Given the description of an element on the screen output the (x, y) to click on. 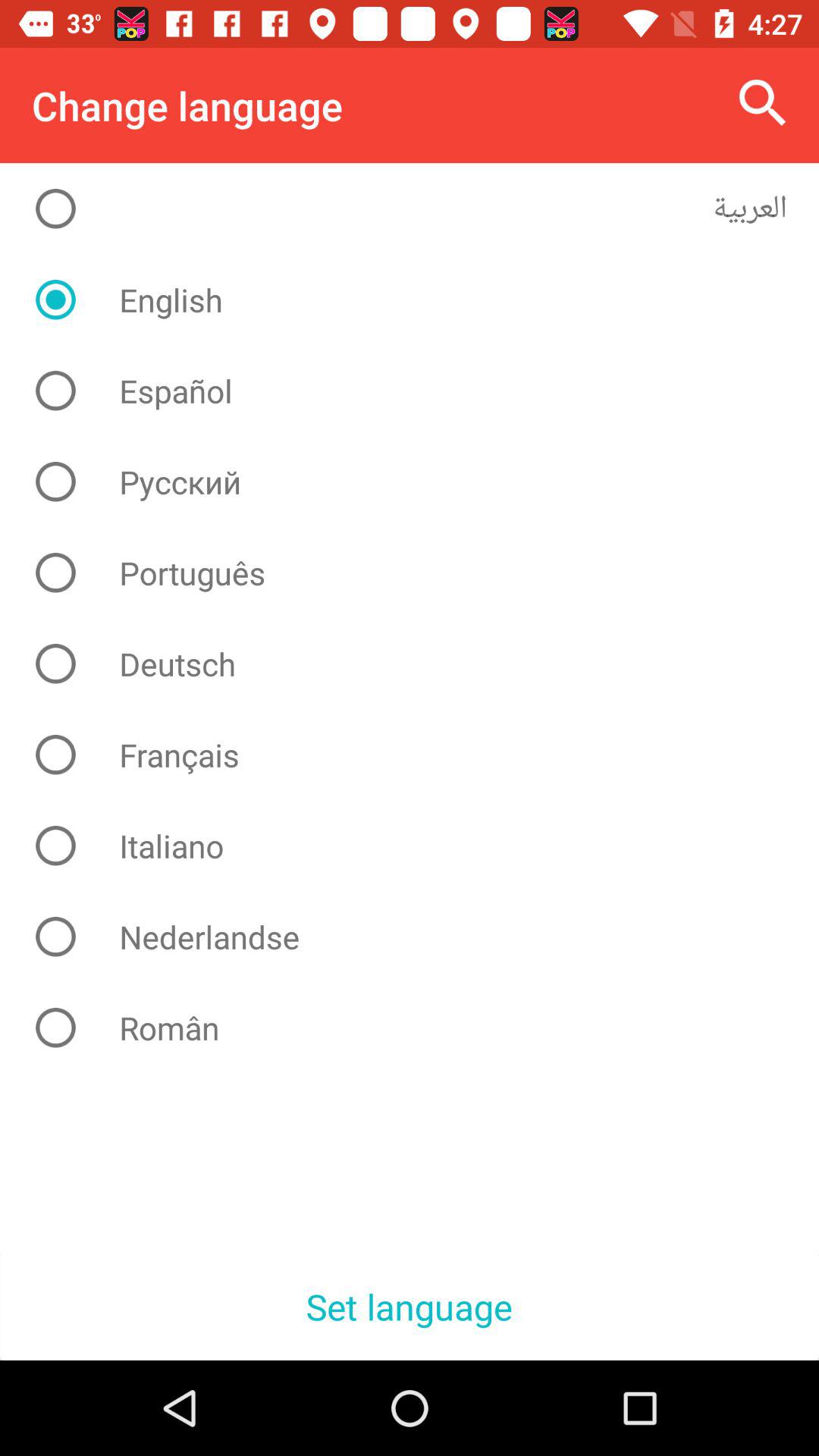
turn on the deutsch (421, 663)
